Given the description of an element on the screen output the (x, y) to click on. 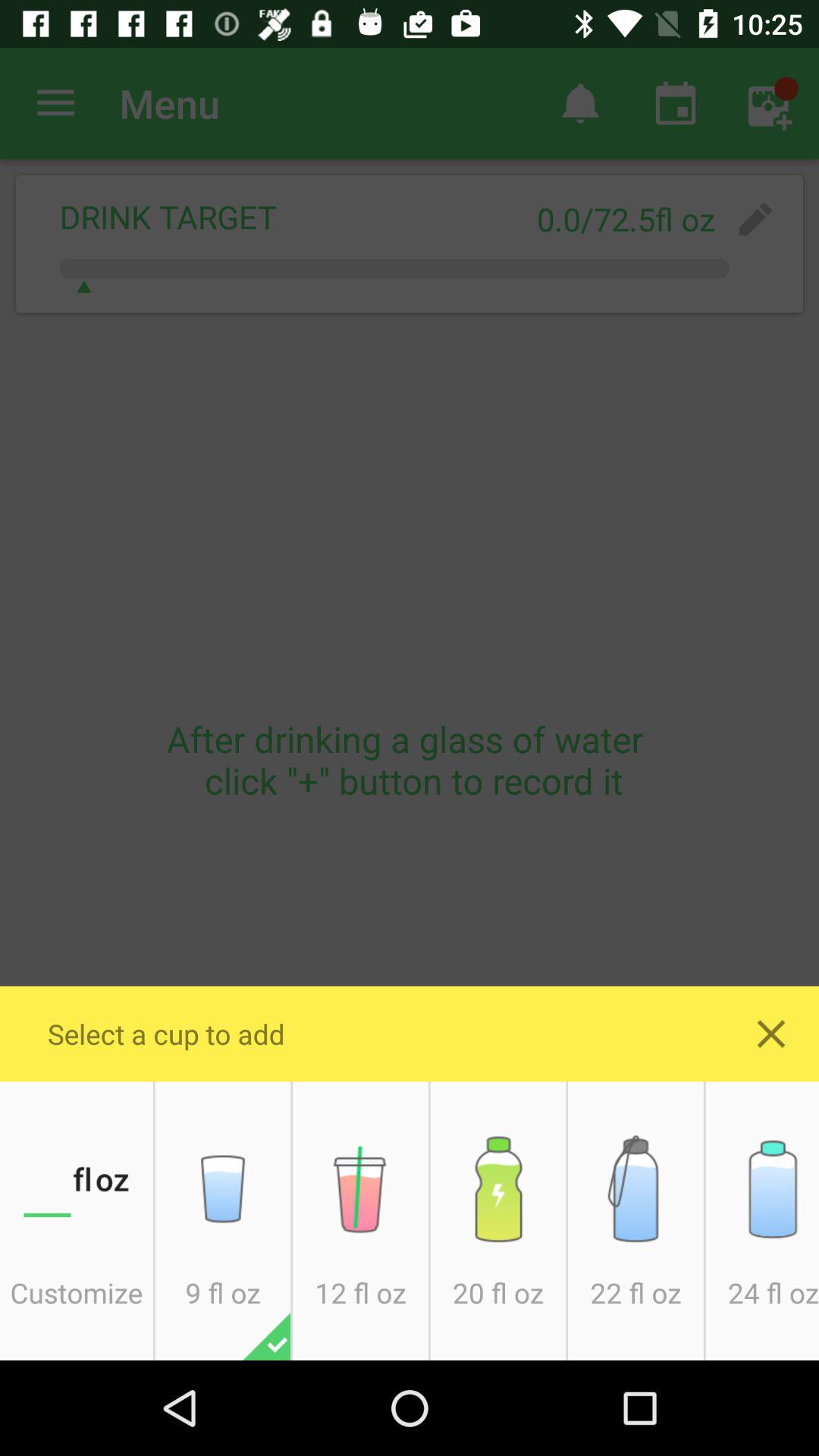
launch the item to the right of the select a cup item (771, 1033)
